Given the description of an element on the screen output the (x, y) to click on. 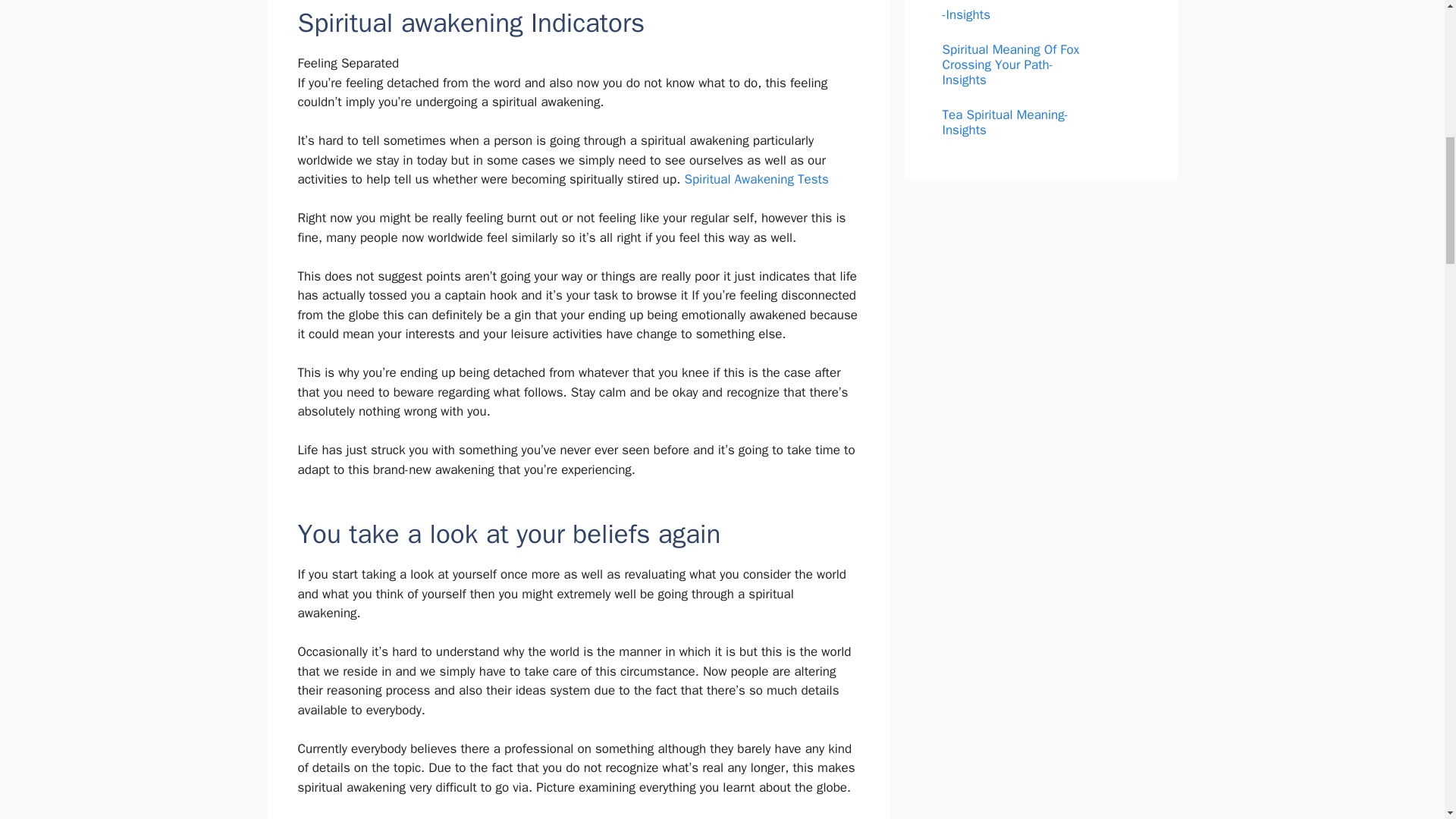
-Insights (966, 14)
Spiritual Awakening Tests (756, 179)
Tea Spiritual Meaning-Insights (1004, 122)
Spiritual Meaning Of Fox Crossing Your Path-Insights (1010, 64)
